Given the description of an element on the screen output the (x, y) to click on. 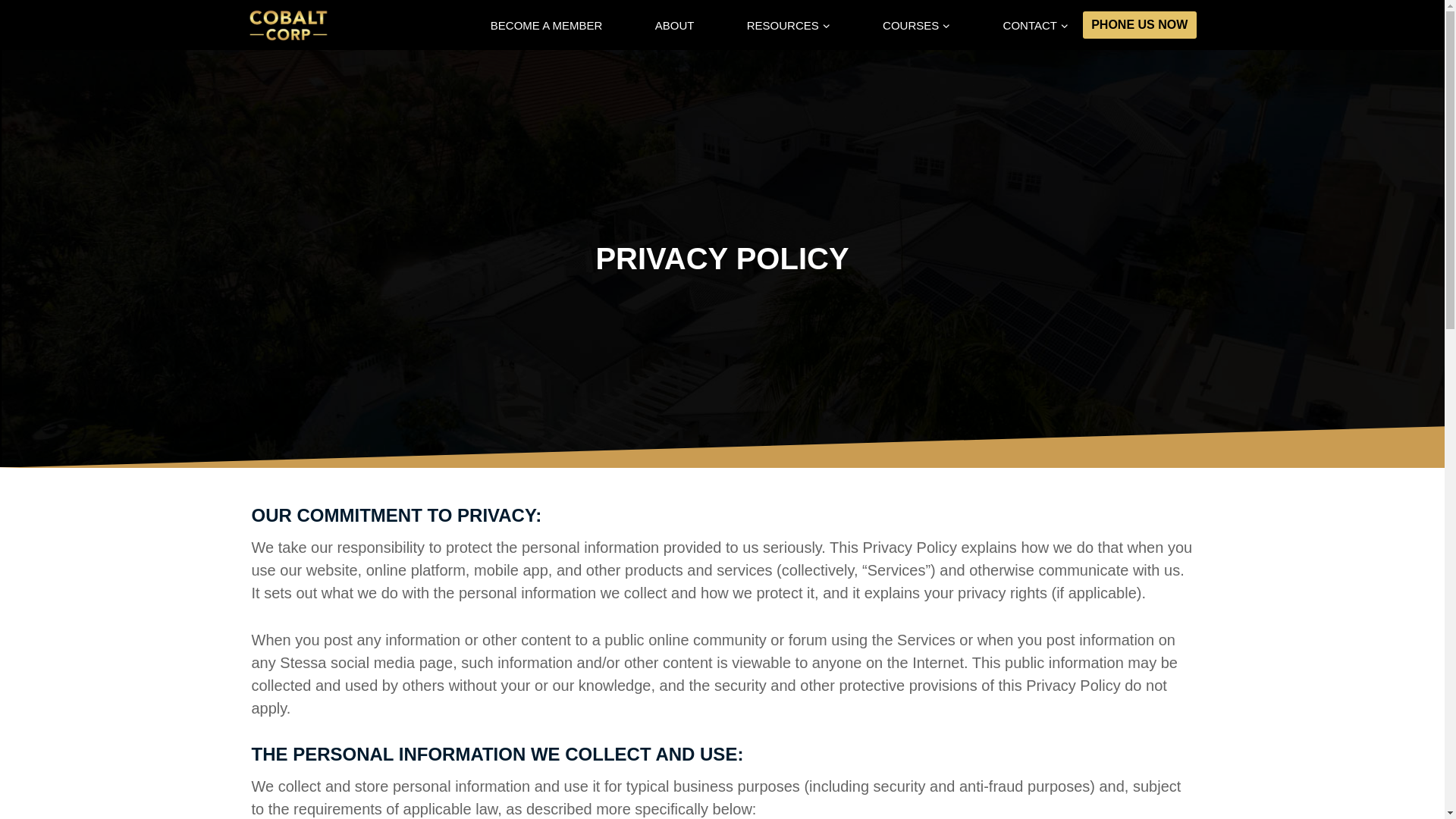
PHONE US NOW (1139, 24)
RESOURCES (788, 25)
BECOME A MEMBER (546, 25)
COURSES (916, 25)
CONTACT (1035, 25)
ABOUT (674, 25)
